Given the description of an element on the screen output the (x, y) to click on. 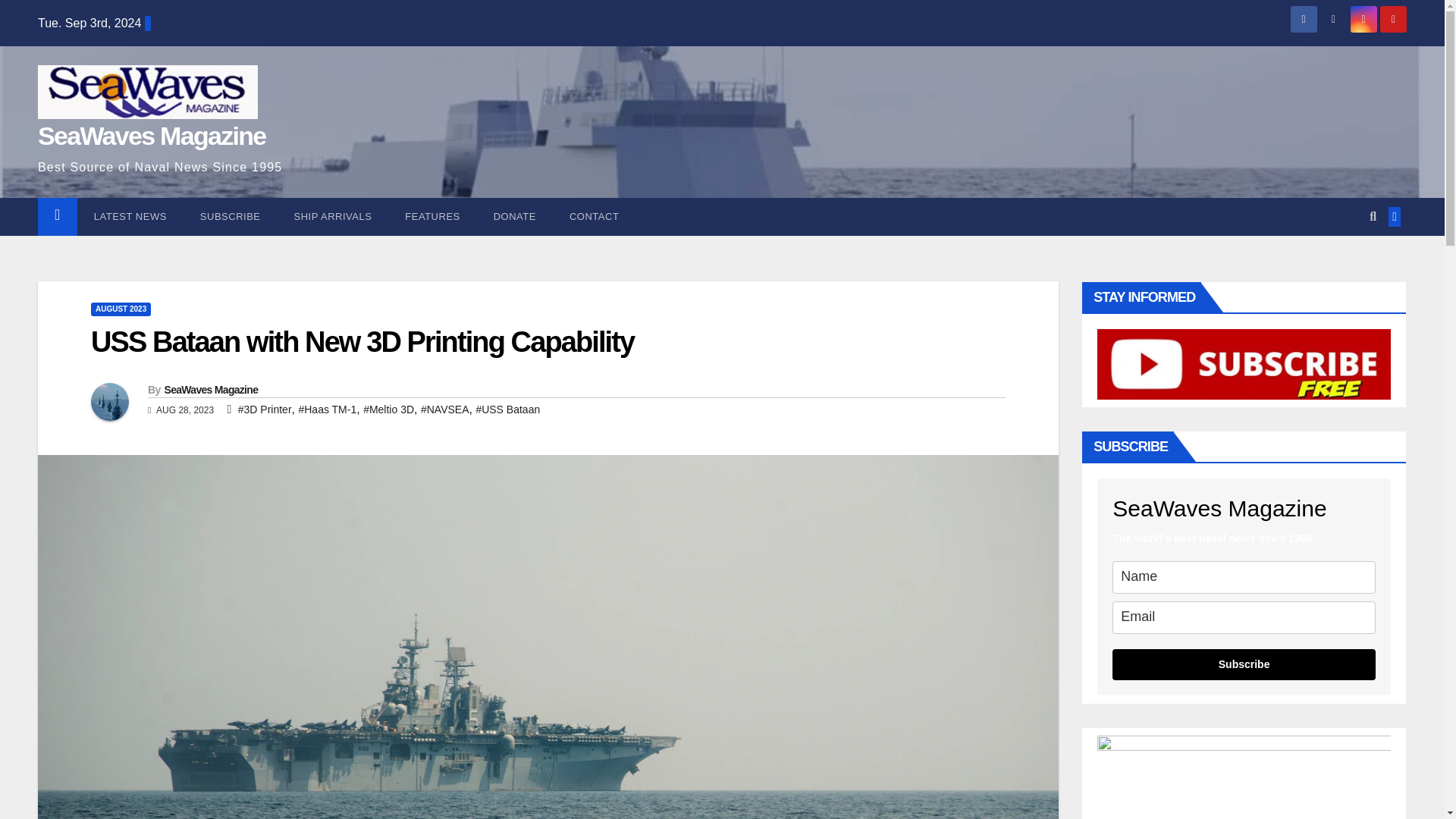
SeaWaves Magazine (151, 135)
SHIP ARRIVALS (333, 216)
FEATURES (432, 216)
SUBSCRIBE (230, 216)
Subscribe (230, 216)
Latest News (130, 216)
LATEST NEWS (130, 216)
Features (432, 216)
Ship Arrivals (333, 216)
